Given the description of an element on the screen output the (x, y) to click on. 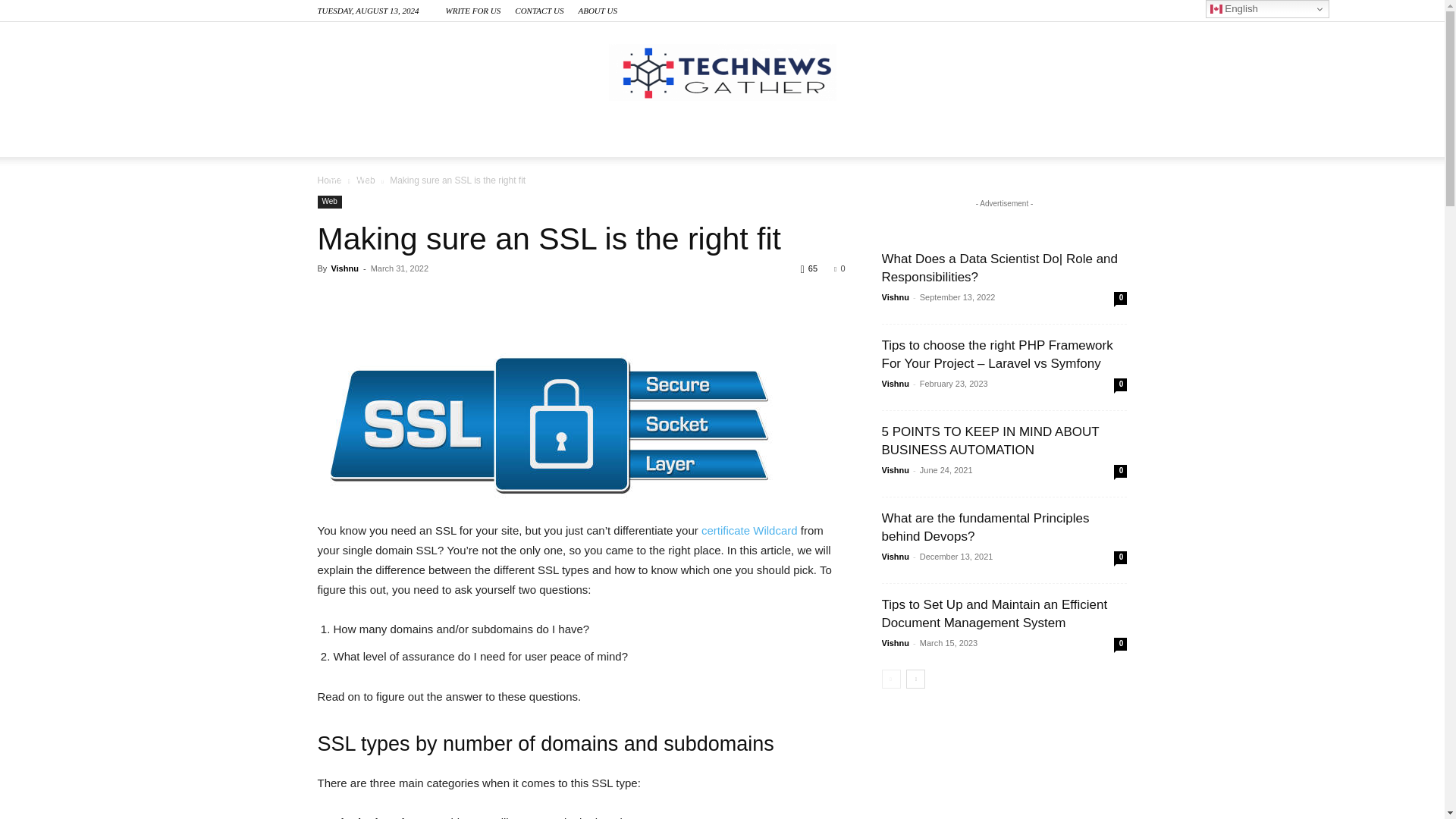
BUSINESS (508, 138)
Technewsgather (721, 72)
WRITE FOR US (472, 10)
Technewsgather (721, 72)
ABOUT US (596, 10)
CONTACT US (539, 10)
TECHNOLOGY (385, 138)
